Given the description of an element on the screen output the (x, y) to click on. 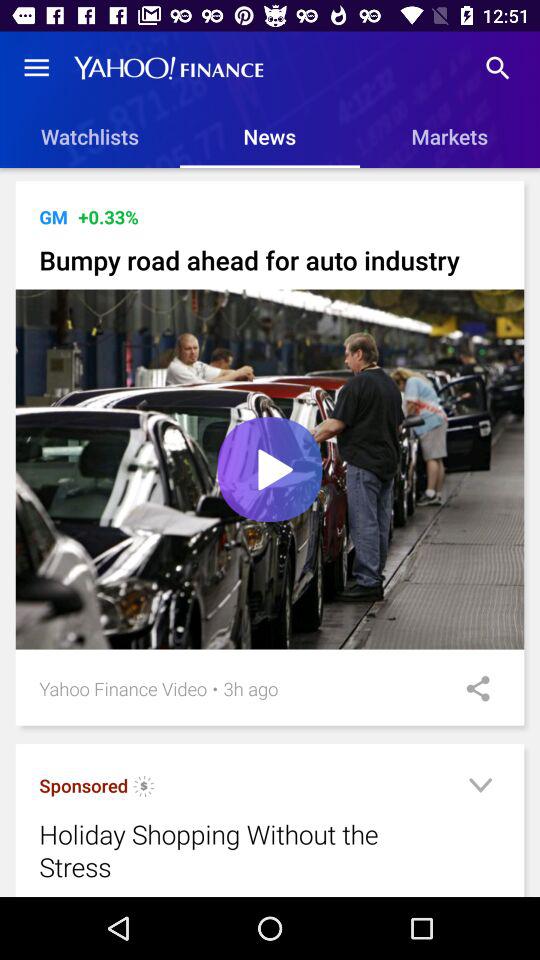
turn on the item to the right of 3h ago icon (471, 688)
